Given the description of an element on the screen output the (x, y) to click on. 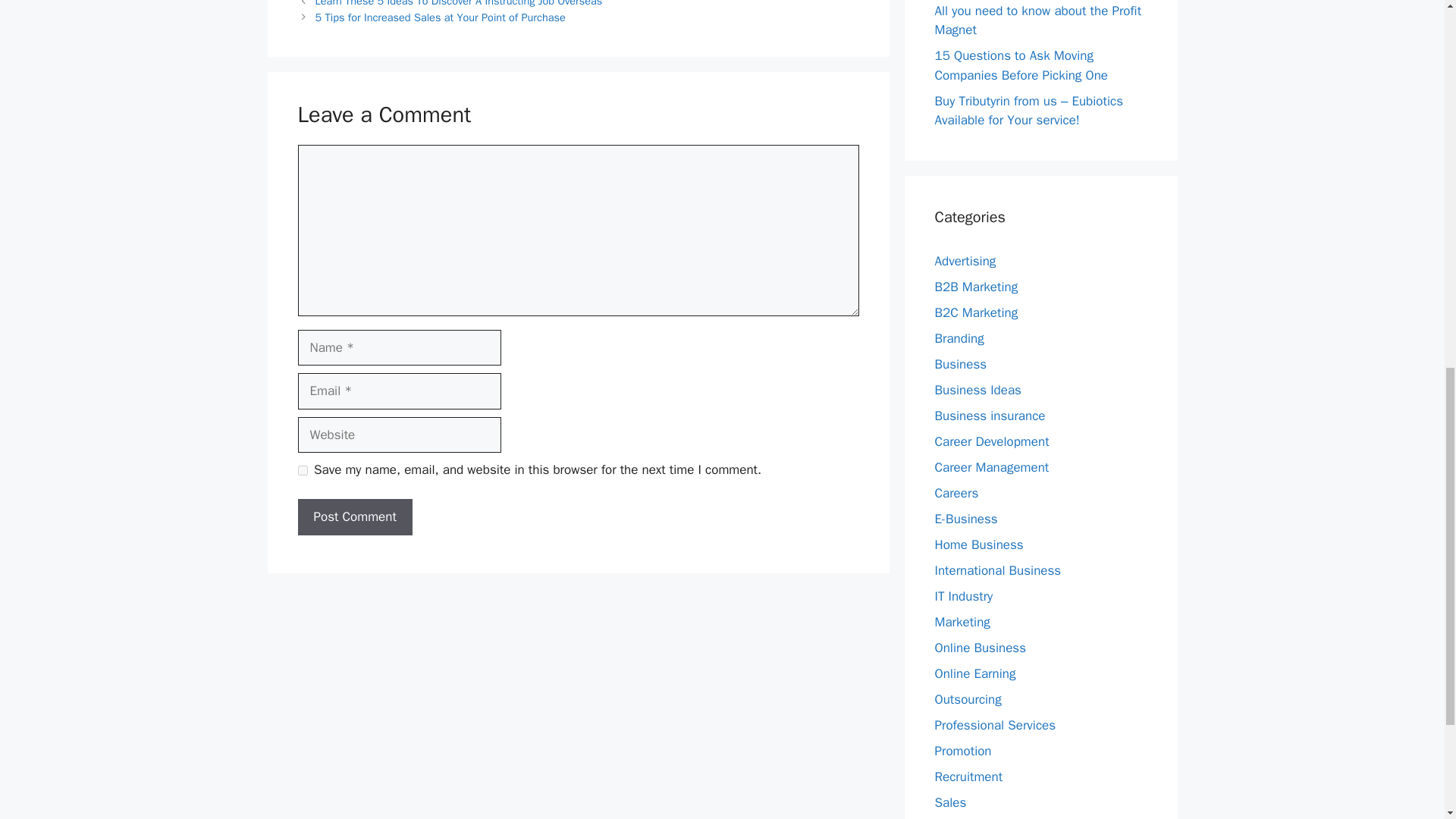
Post Comment (354, 516)
Post Comment (354, 516)
5 Tips for Increased Sales at Your Point of Purchase (440, 17)
Learn These 5 Ideas To Discover A Instructing Job Overseas (458, 3)
yes (302, 470)
